Given the description of an element on the screen output the (x, y) to click on. 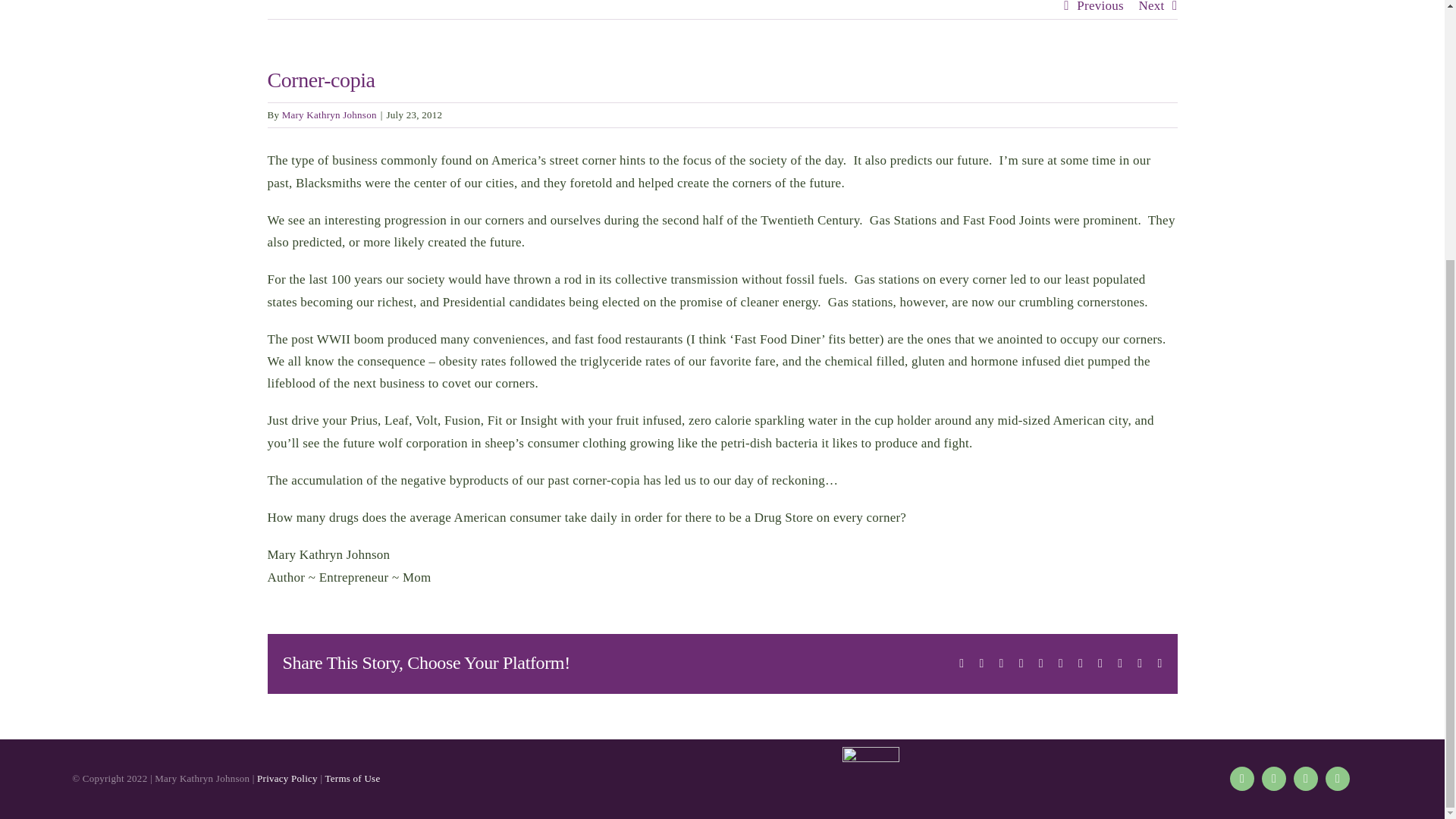
Terms of Use (352, 778)
Instagram (1273, 778)
Mary Kathryn Johnson (329, 114)
Facebook (1241, 778)
Posts by Mary Kathryn Johnson (329, 114)
Previous (1100, 9)
Privacy Policy (287, 778)
Next (1150, 9)
